Given the description of an element on the screen output the (x, y) to click on. 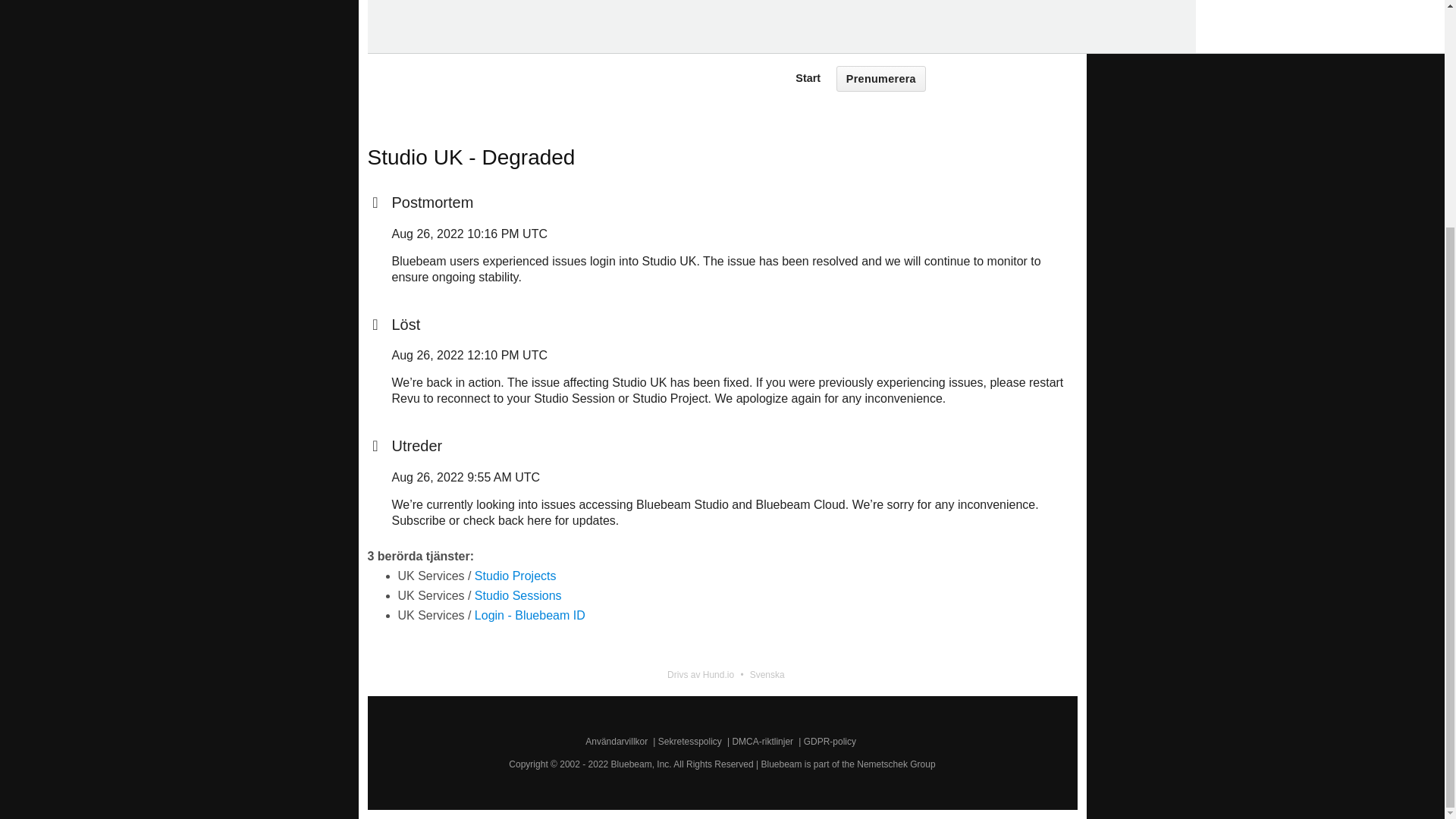
sekretesspolicy (877, 0)
DMCA-riktlinjer (762, 741)
Prenumerera (880, 78)
Nemetschek Group (895, 764)
Login - Bluebeam ID (529, 614)
Studio Sessions (518, 594)
Studio Projects (515, 574)
Sekretesspolicy (690, 741)
Nemetschek Group (895, 764)
Svenska (769, 674)
Drivs av Hund.io (699, 674)
GDPR-policy (829, 741)
Start (808, 78)
